Given the description of an element on the screen output the (x, y) to click on. 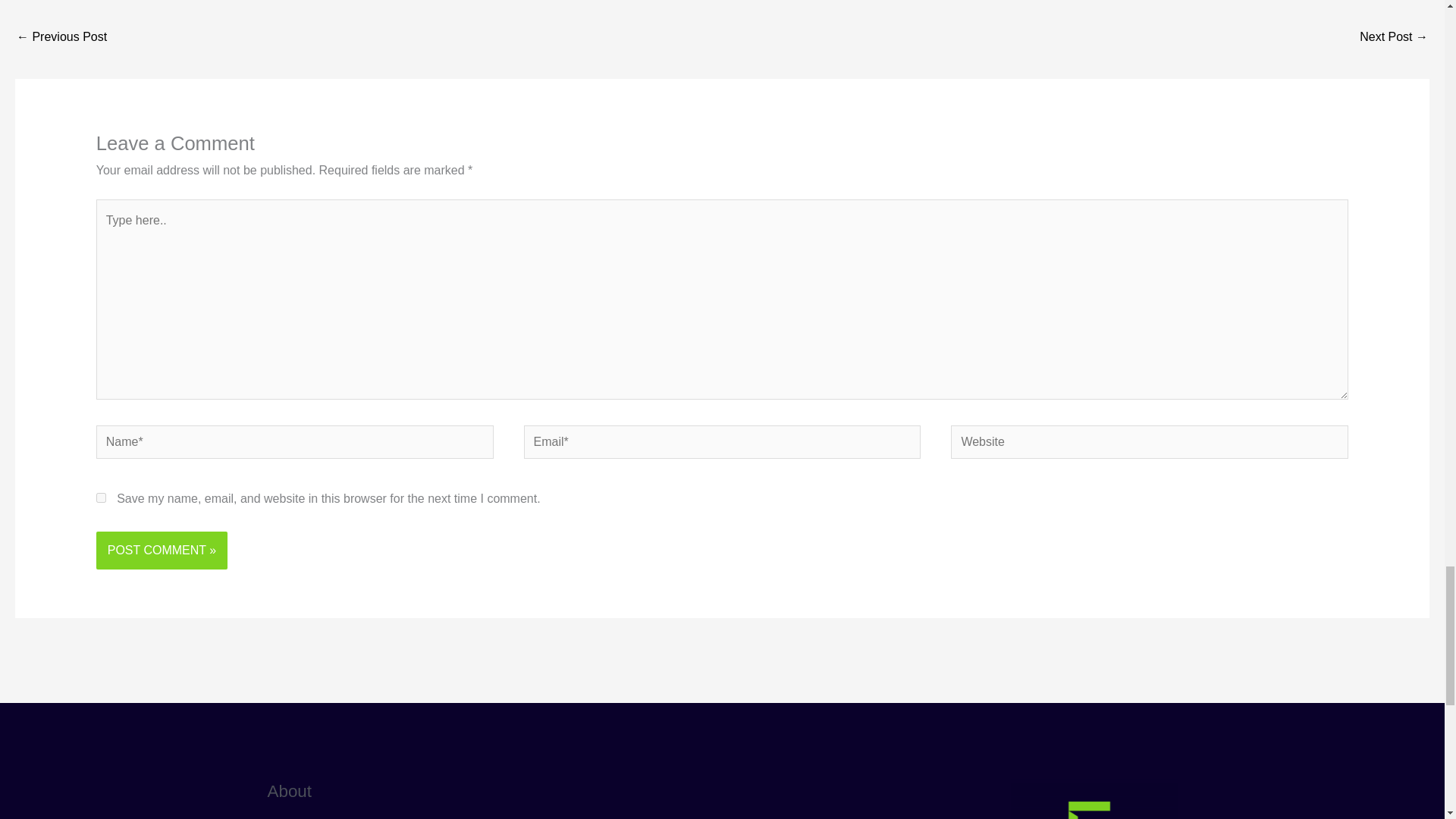
Finest Nation For the purpose of Mail Purchase Brides (1393, 38)
yes (101, 497)
